Given the description of an element on the screen output the (x, y) to click on. 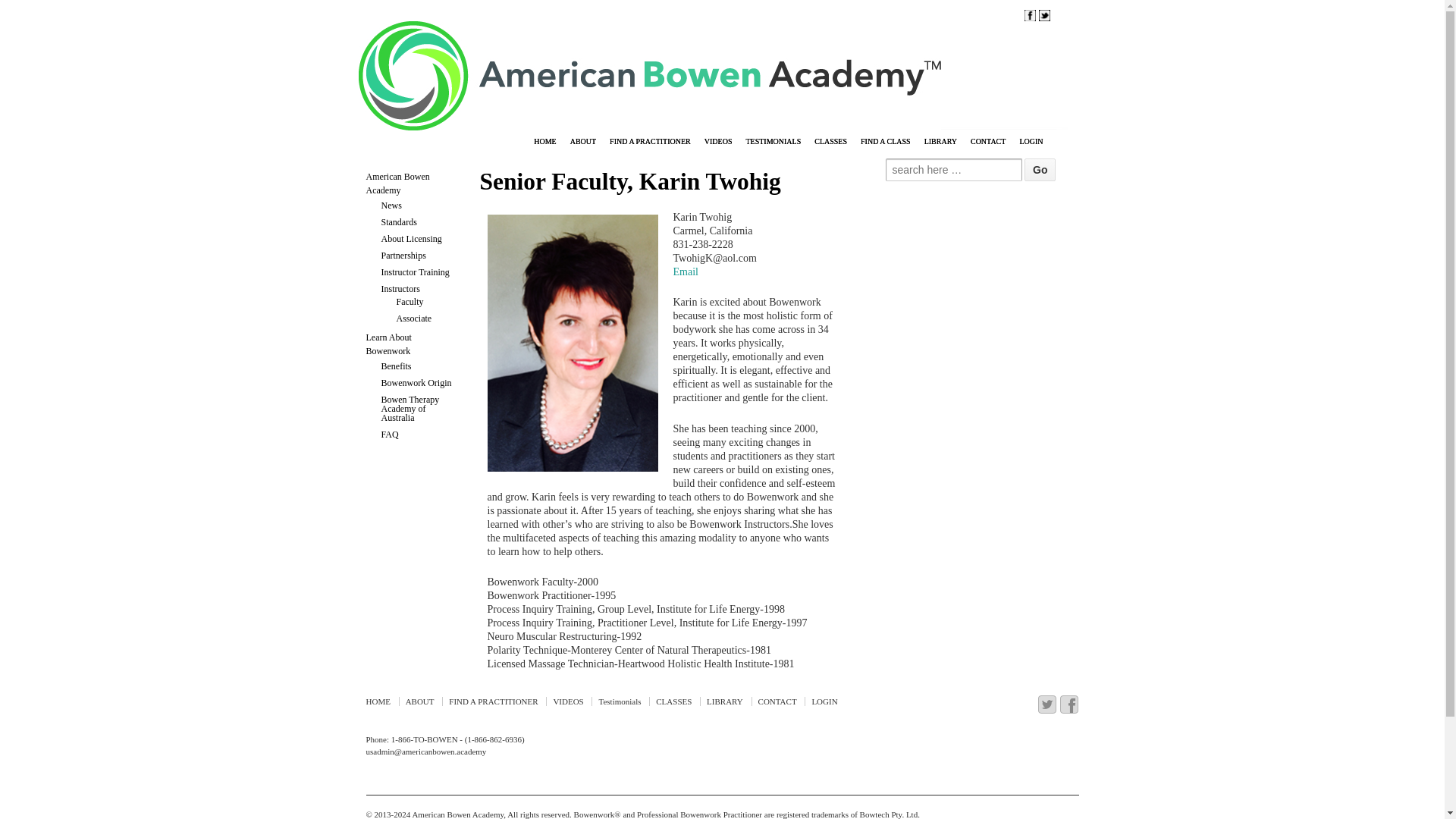
LIBRARY (940, 142)
FIND A PRACTITIONER (649, 142)
TESTIMONIALS (773, 142)
CLASSES (830, 142)
VIDEOS (718, 142)
HOME (544, 142)
CONTACT (987, 142)
Go (1040, 169)
American Bowen Academy (456, 814)
FIND A CLASS (885, 142)
